Given the description of an element on the screen output the (x, y) to click on. 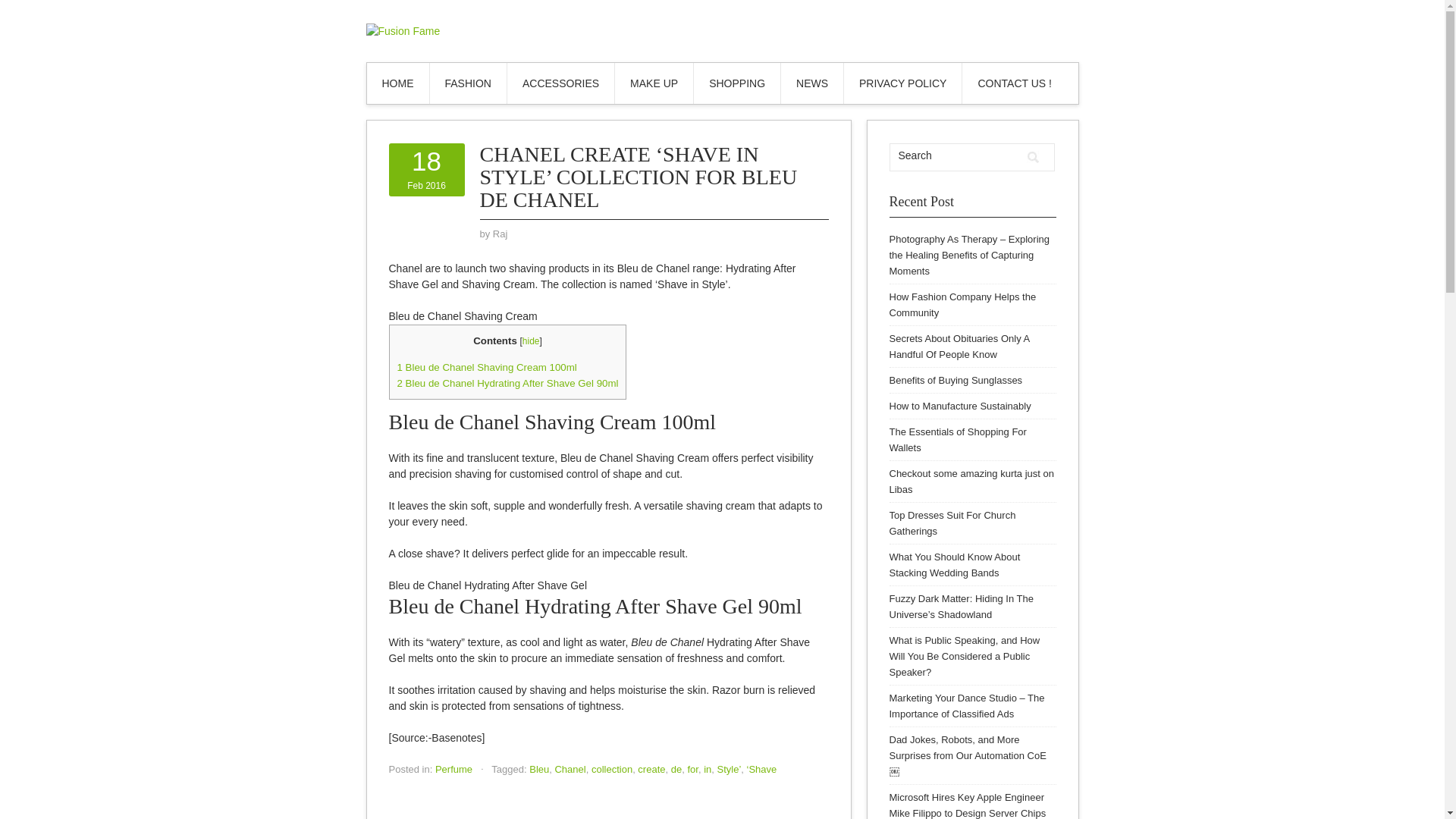
Top Dresses Suit For Church Gatherings (951, 523)
How Fashion Company Helps the Community (961, 304)
Search (1032, 156)
2 Bleu de Chanel Hydrating After Shave Gel 90ml (507, 383)
Secrets About Obituaries Only A Handful Of People Know (958, 346)
MAKE UP (653, 83)
Benefits of Buying Sunglasses (955, 379)
Bleu (538, 768)
Search (1032, 156)
How to Manufacture Sustainably (426, 169)
1 Bleu de Chanel Shaving Cream 100ml (959, 405)
HOME (486, 367)
FASHION (397, 83)
Raj (467, 83)
